Given the description of an element on the screen output the (x, y) to click on. 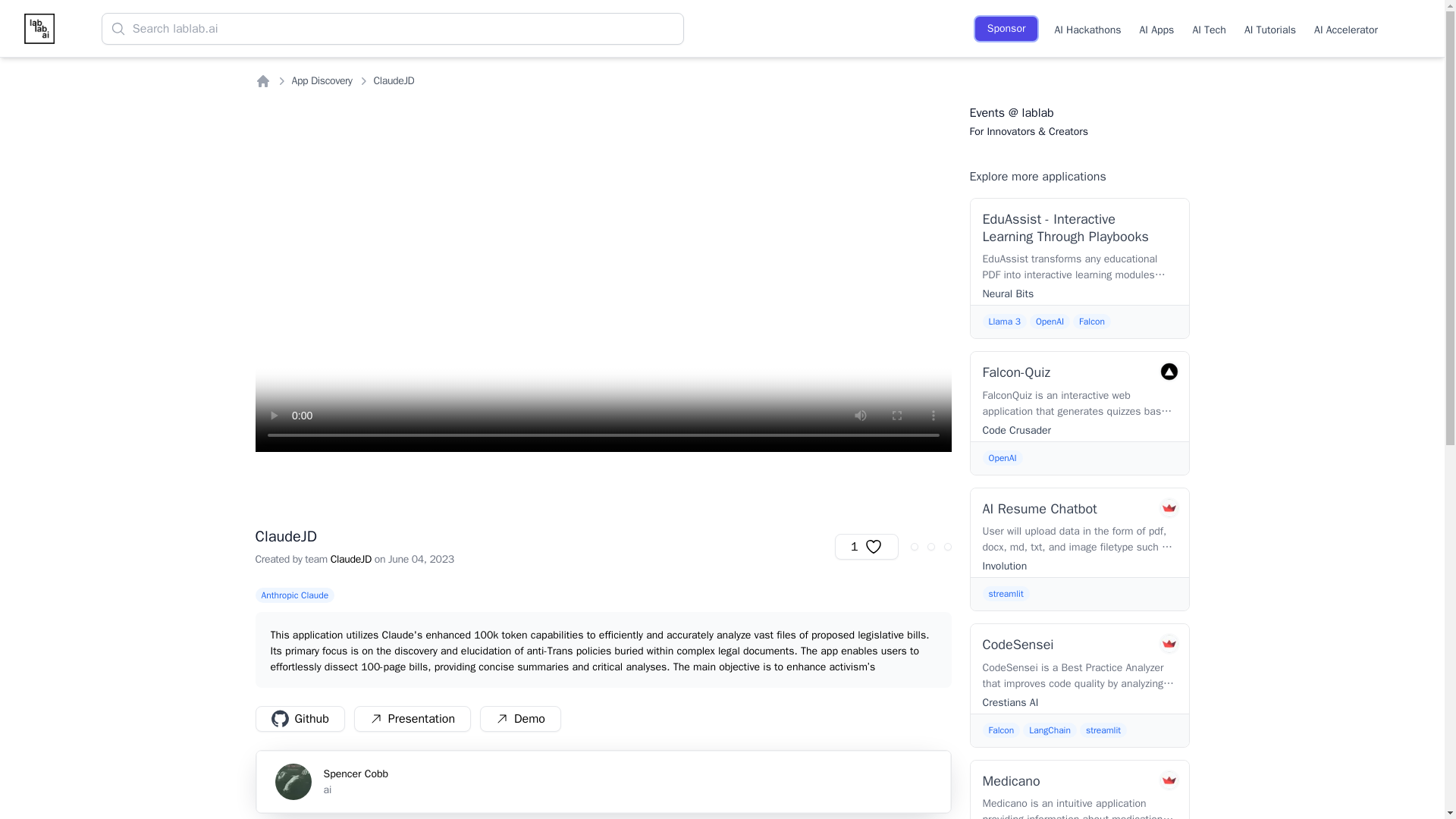
AI Hackathons (1087, 28)
Sponsor (1006, 28)
AI Tech (602, 781)
App Discovery (1208, 28)
Anthropic Claude (321, 80)
Home (295, 597)
Presentation (261, 79)
Github (411, 718)
AI Apps (298, 718)
AI Tutorials (1157, 28)
1 (1269, 28)
Demo (866, 546)
